Given the description of an element on the screen output the (x, y) to click on. 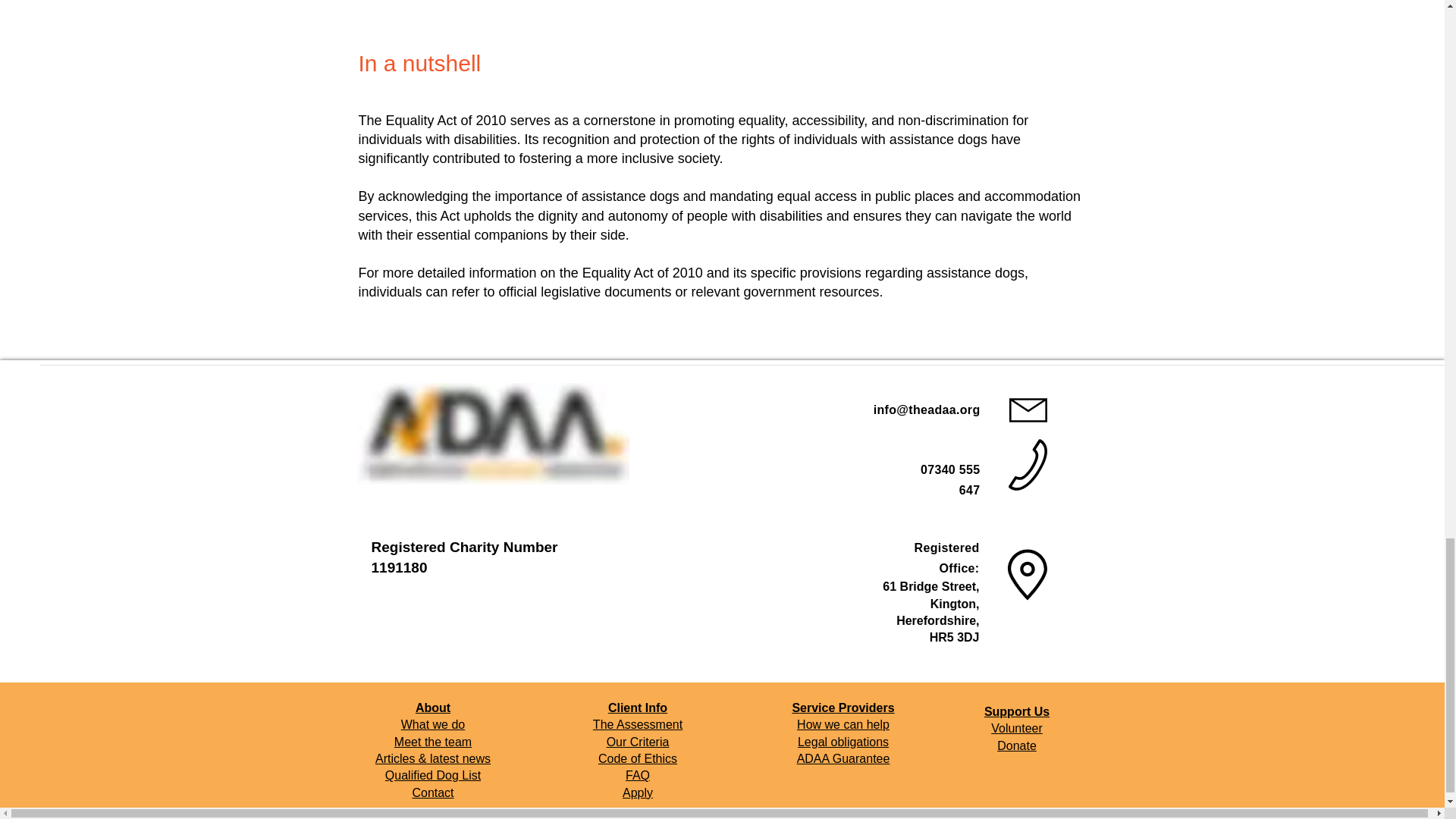
Code of Ethics (637, 758)
Our Criteria (638, 741)
ADAA Guarantee (842, 758)
Volunteer (1016, 727)
Contact (432, 792)
The Assessment (637, 724)
Apply (637, 792)
What we do (432, 724)
Legal obligations (842, 741)
FAQ (637, 775)
